Given the description of an element on the screen output the (x, y) to click on. 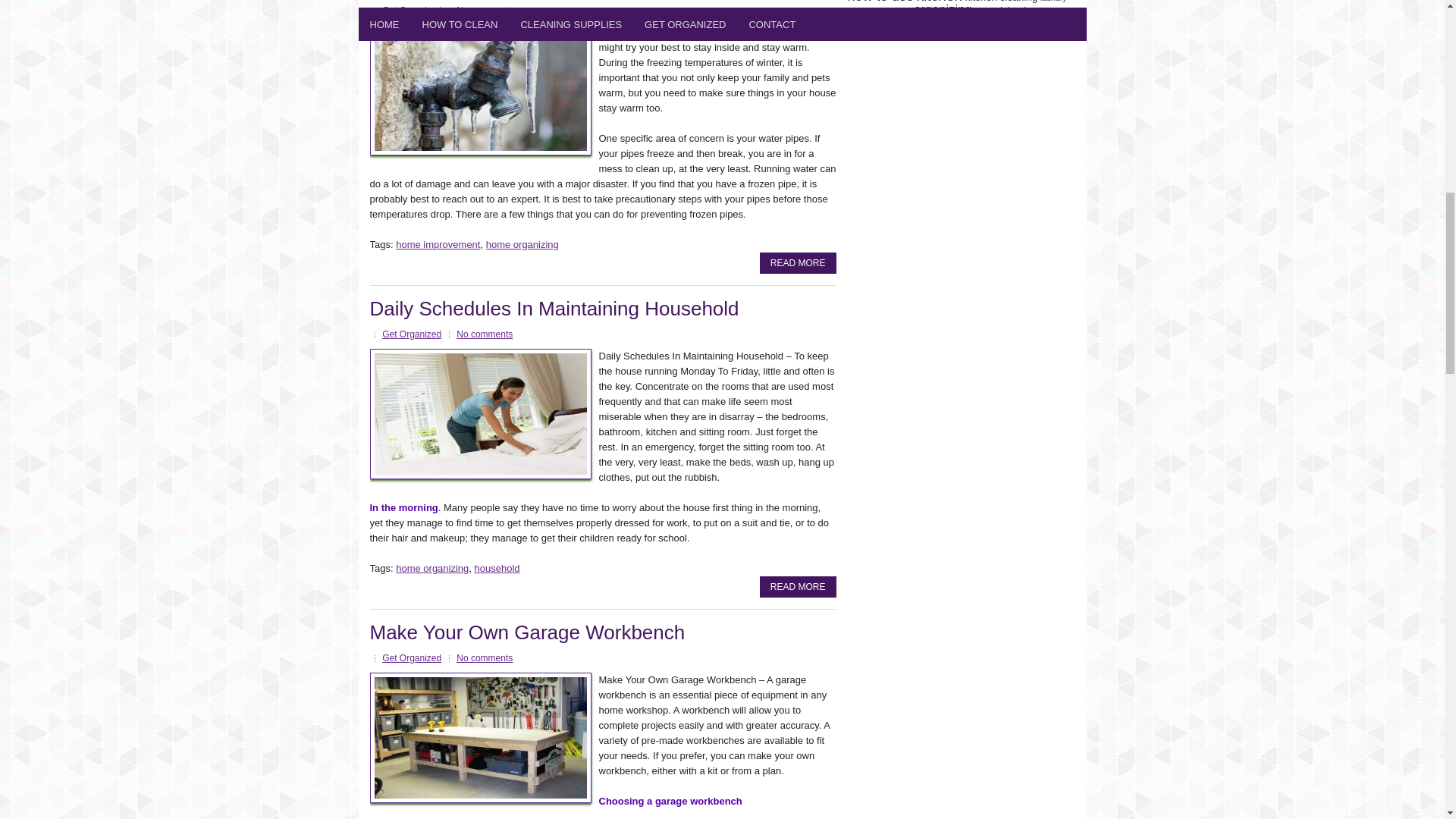
No comments (484, 9)
Permalink to Preventing Frozen Pipes (797, 262)
No comments (484, 657)
Permalink to Daily Schedules In Maintaining Household (554, 308)
READ MORE (797, 262)
Get Organized (411, 657)
Make Your Own Garage Workbench (527, 631)
home organizing (522, 244)
Get Organized (411, 334)
READ MORE (797, 586)
